Given the description of an element on the screen output the (x, y) to click on. 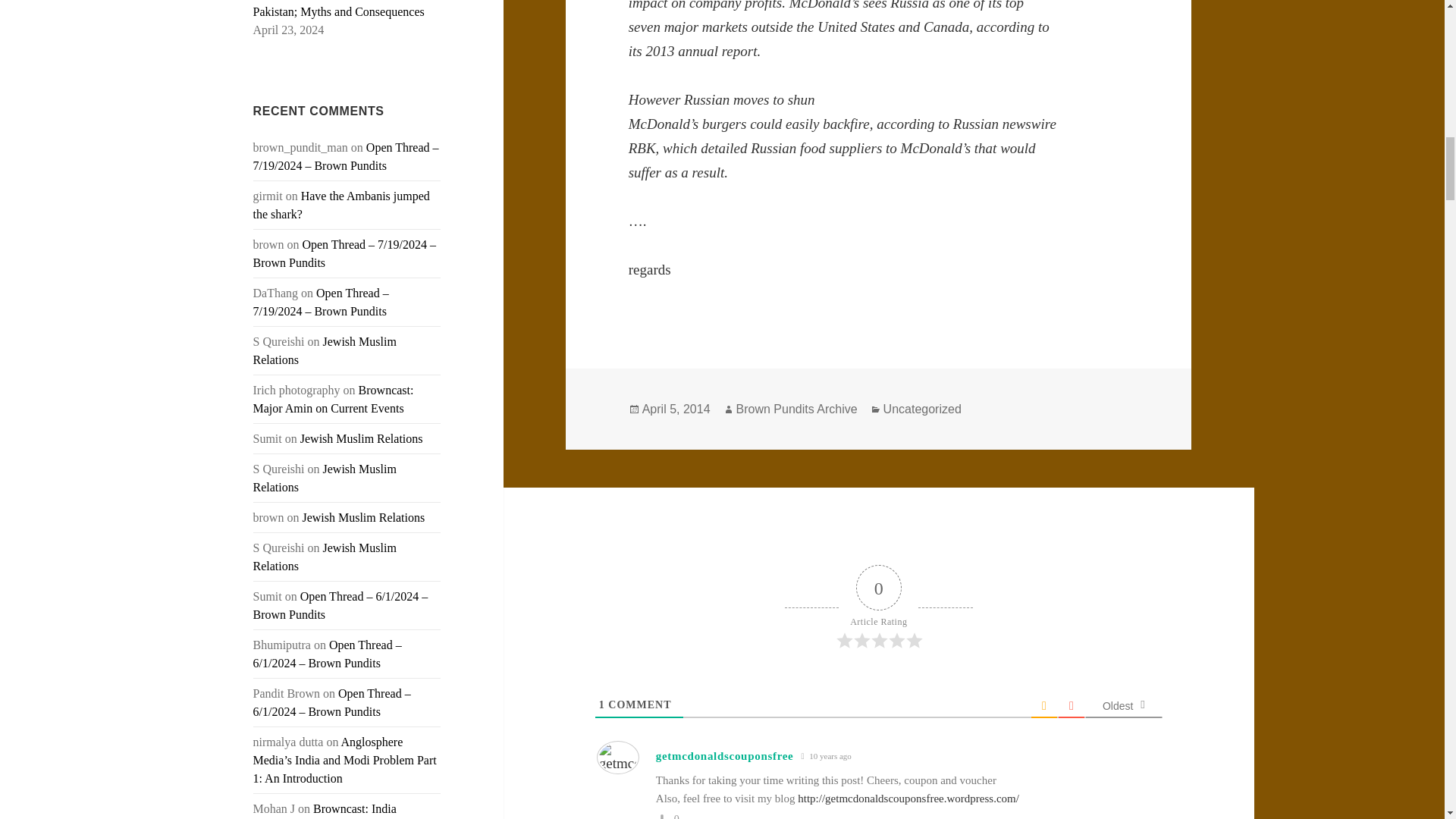
Jewish Muslim Relations (363, 517)
Jewish Muslim Relations (324, 477)
Jewish Muslim Relations (324, 350)
May 25, 2014 7:55 am (825, 756)
Jewish Muslim Relations (324, 556)
0 (676, 816)
Have the Ambanis jumped the shark? (341, 204)
Browncast: Major Amin on Current Events (333, 399)
Pakistan; Myths and Consequences (339, 11)
Jewish Muslim Relations (361, 438)
